Given the description of an element on the screen output the (x, y) to click on. 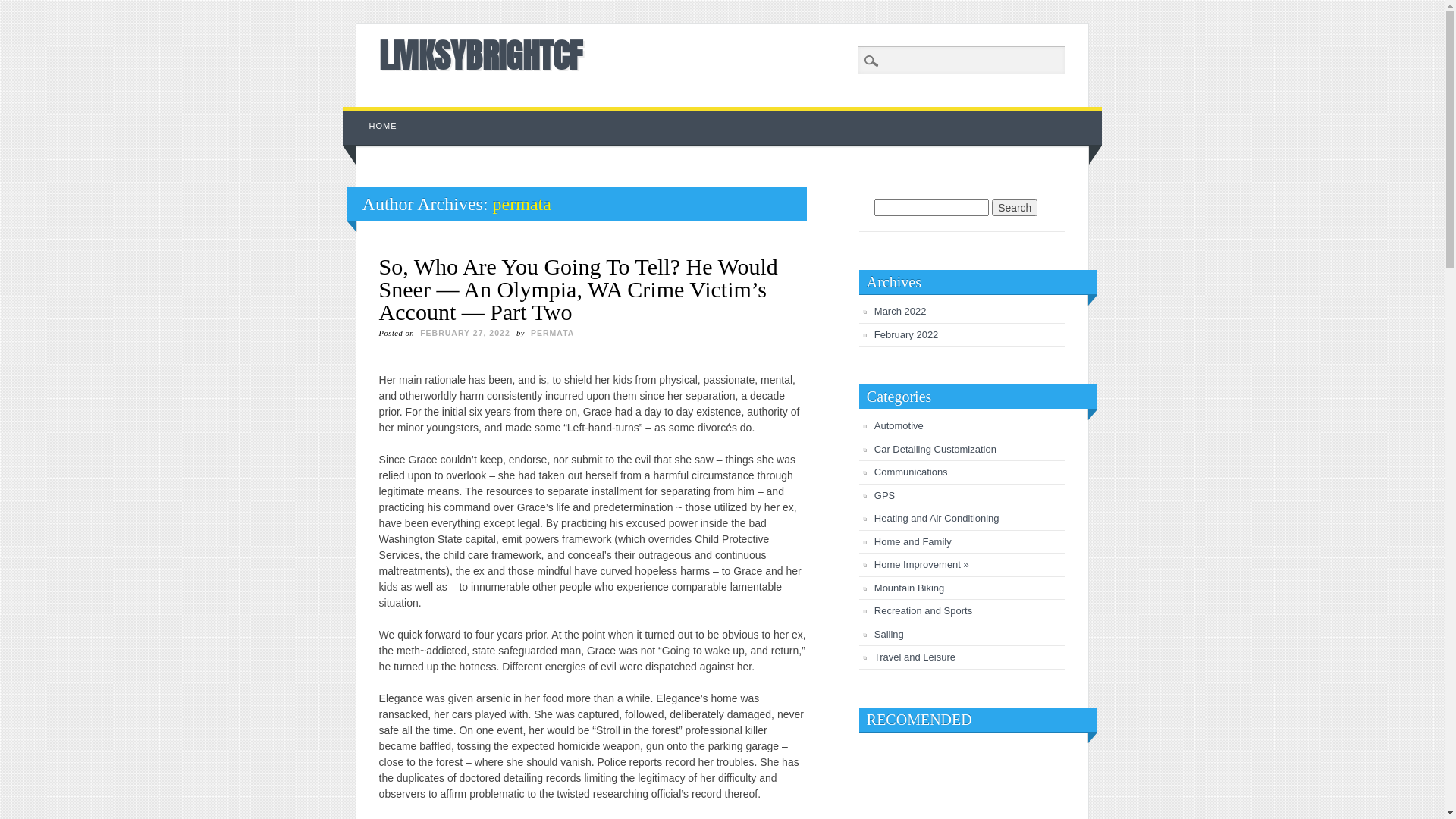
PERMATA Element type: text (552, 332)
March 2022 Element type: text (900, 310)
FEBRUARY 27, 2022 Element type: text (465, 332)
Heating and Air Conditioning Element type: text (936, 518)
Automotive Element type: text (898, 425)
HOME Element type: text (383, 125)
Home and Family Element type: text (912, 541)
Communications Element type: text (910, 471)
Car Detailing Customization Element type: text (935, 449)
LMKSYBRIGHTCF Element type: text (480, 55)
permata Element type: text (521, 203)
February 2022 Element type: text (906, 334)
GPS Element type: text (884, 495)
Recreation and Sports Element type: text (923, 610)
Travel and Leisure Element type: text (914, 656)
Skip to content Element type: text (377, 114)
Sailing Element type: text (888, 634)
Mountain Biking Element type: text (909, 587)
Search Element type: text (1014, 207)
Search Element type: text (22, 8)
